Given the description of an element on the screen output the (x, y) to click on. 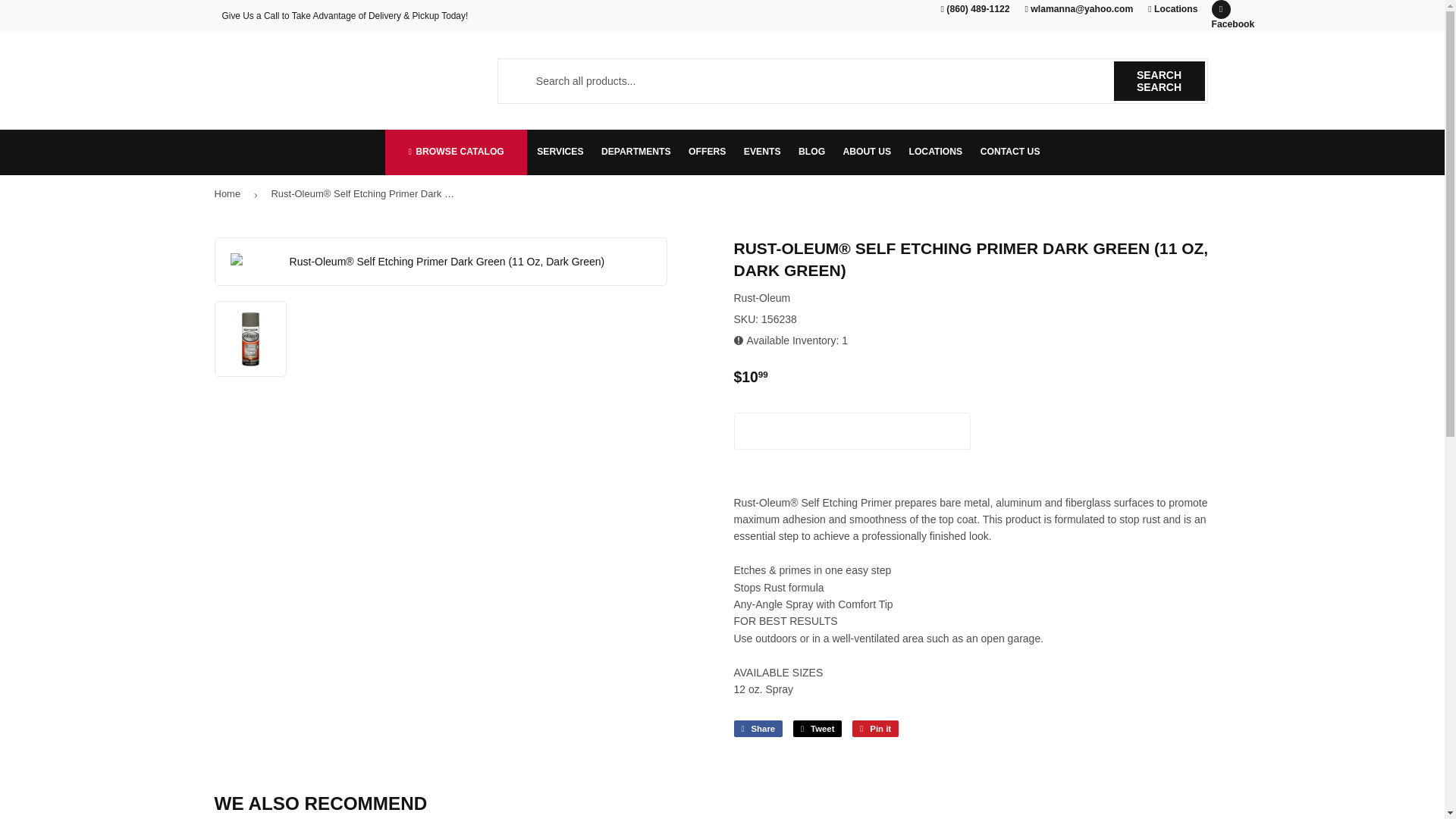
Share on Facebook (758, 728)
Open Product Zoom (441, 261)
 Locations (1172, 9)
Tweet on Twitter (817, 728)
SEARCH SEARCH (1158, 80)
Pin on Pinterest (874, 728)
Facebook (1220, 9)
